Given the description of an element on the screen output the (x, y) to click on. 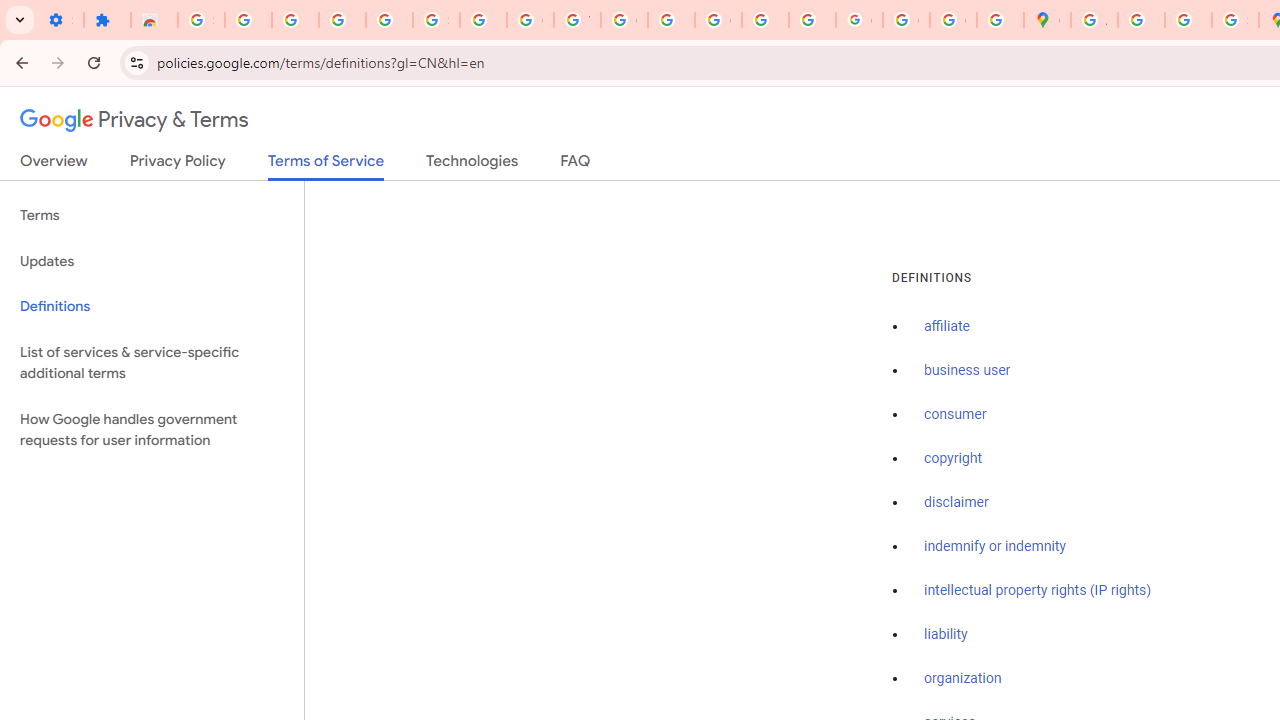
Settings - On startup (60, 20)
consumer (955, 415)
Delete photos & videos - Computer - Google Photos Help (294, 20)
YouTube (577, 20)
liability (945, 634)
business user (967, 371)
Sign in - Google Accounts (436, 20)
How Google handles government requests for user information (152, 429)
